Given the description of an element on the screen output the (x, y) to click on. 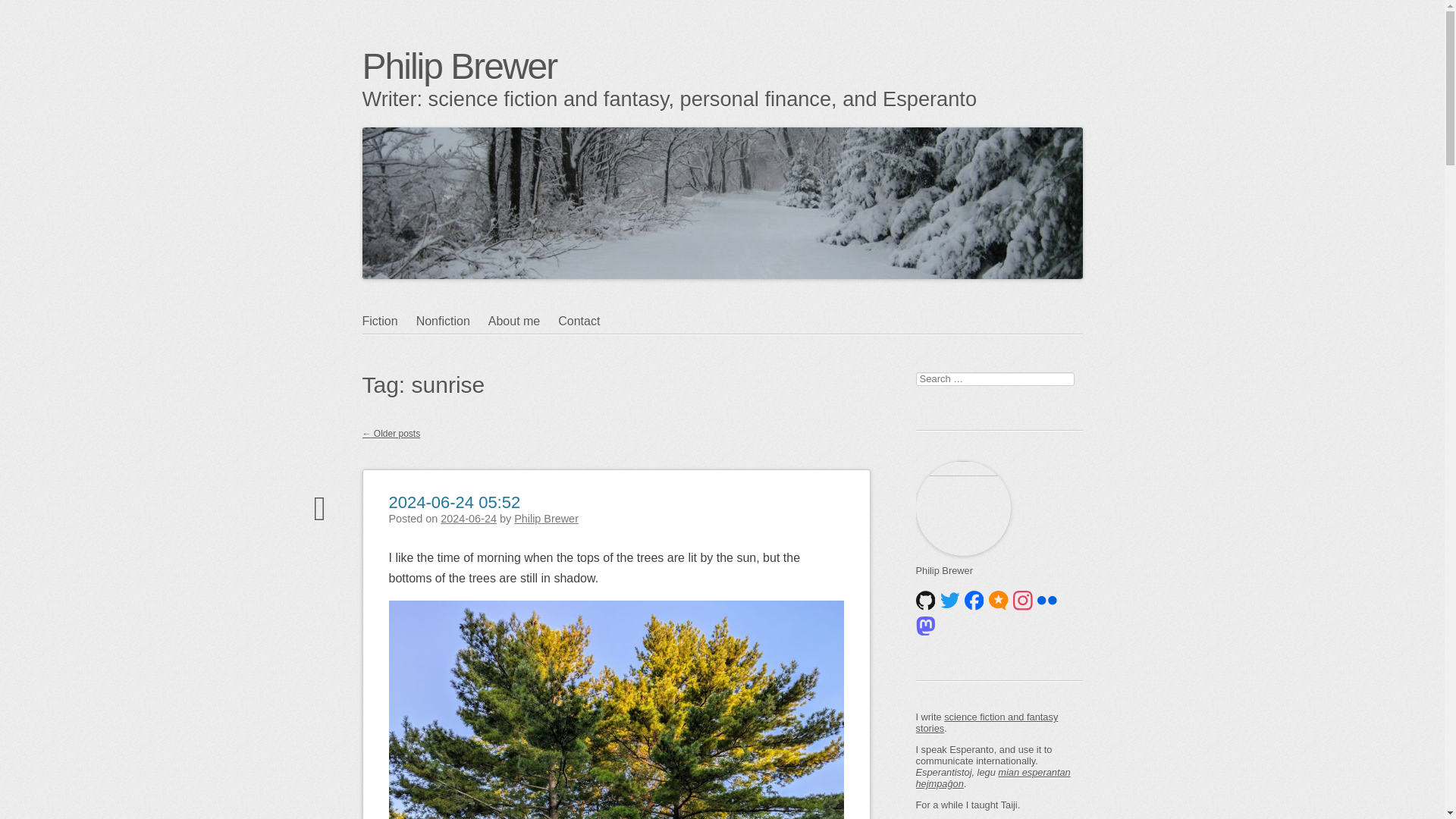
Philip Brewer (545, 518)
5:55 am (468, 518)
Main menu (435, 350)
Fiction (389, 321)
2024-06-24 05:52 (453, 490)
Permalink to 2024-06-24 05:52 (453, 490)
2024-06-24 (468, 518)
About me (522, 321)
Philip Brewer (459, 65)
View all posts by Philip Brewer (545, 518)
Philip Brewer (459, 65)
Main menu (435, 350)
Contact (587, 321)
